Given the description of an element on the screen output the (x, y) to click on. 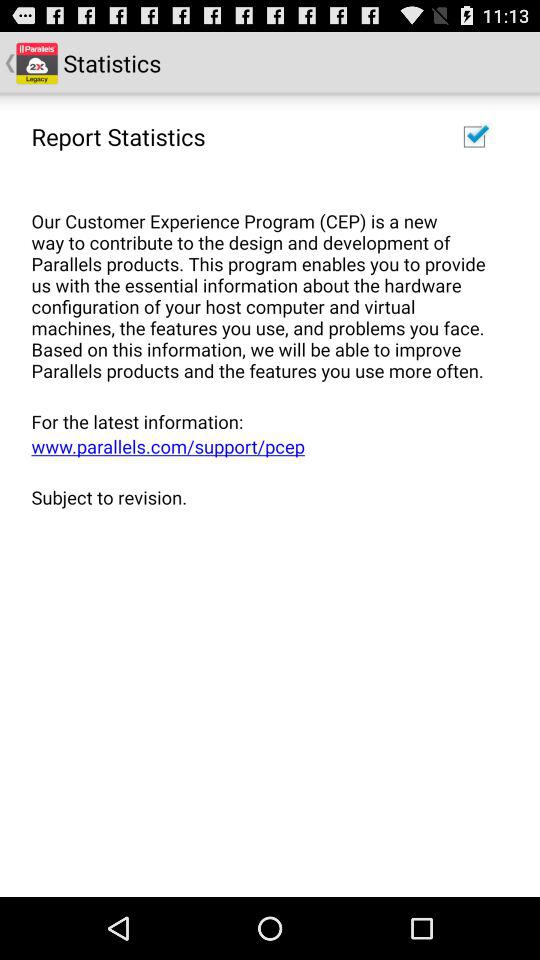
click app below our customer experience (263, 421)
